Given the description of an element on the screen output the (x, y) to click on. 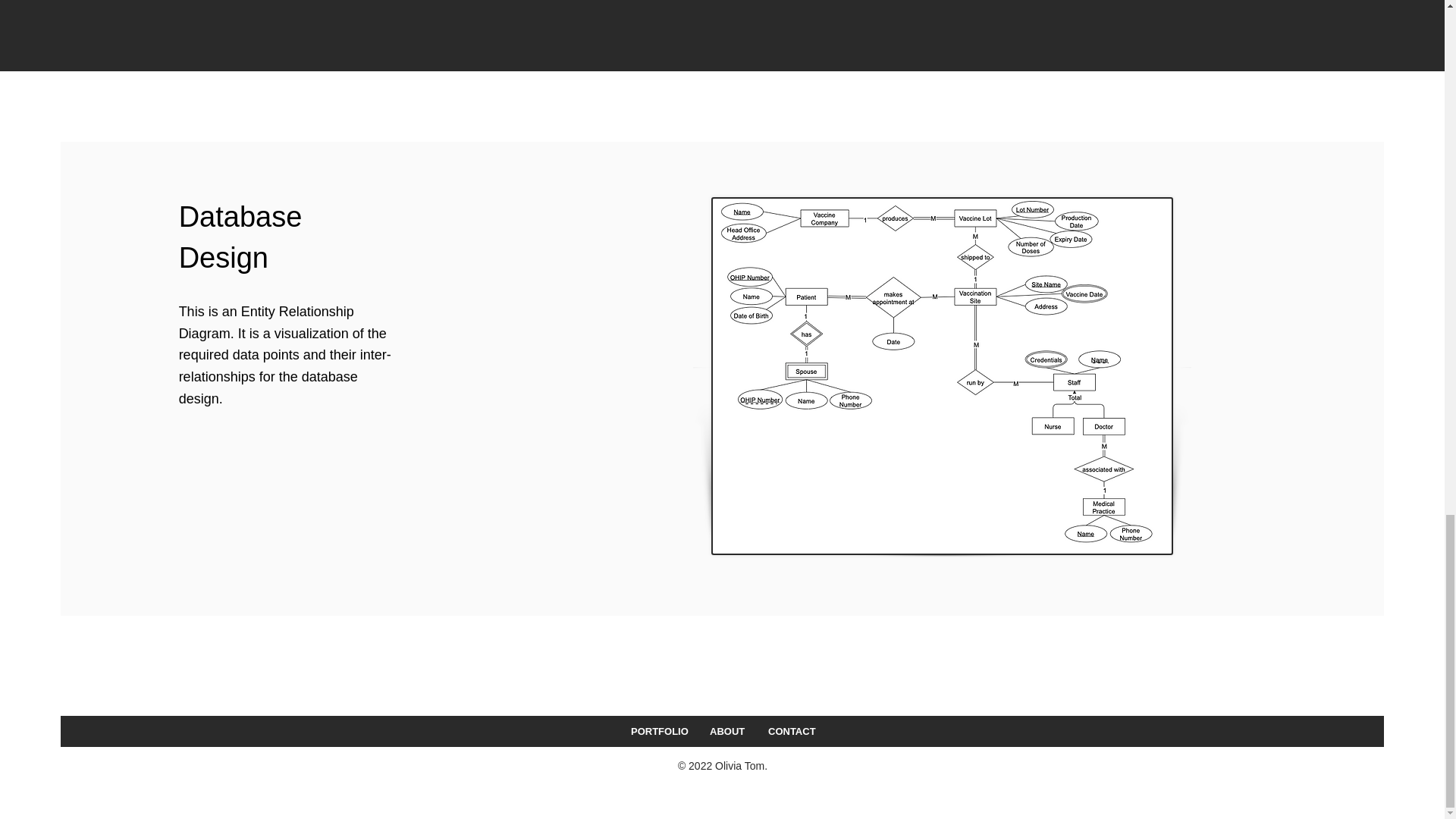
PORTFOLIO (657, 730)
CONTACT (790, 730)
ABOUT (726, 730)
